Given the description of an element on the screen output the (x, y) to click on. 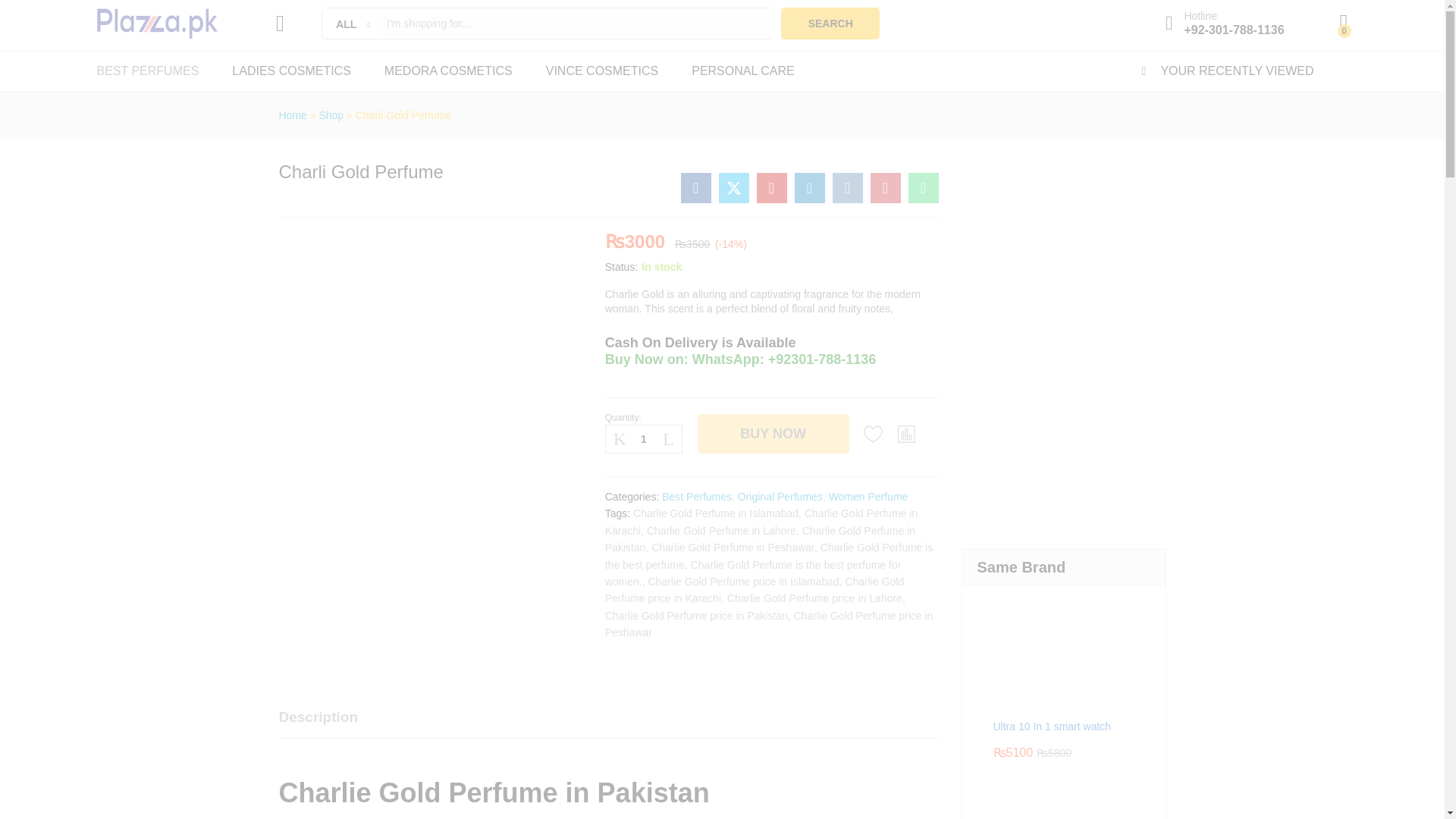
BEST PERFUMES (148, 70)
Shop (330, 114)
Qty (643, 438)
Charli Gold Perfume (696, 187)
VINCE COSMETICS (602, 70)
Home (293, 114)
Wishlist (873, 433)
1 (643, 438)
PERSONAL CARE (742, 70)
SEARCH (829, 23)
